Given the description of an element on the screen output the (x, y) to click on. 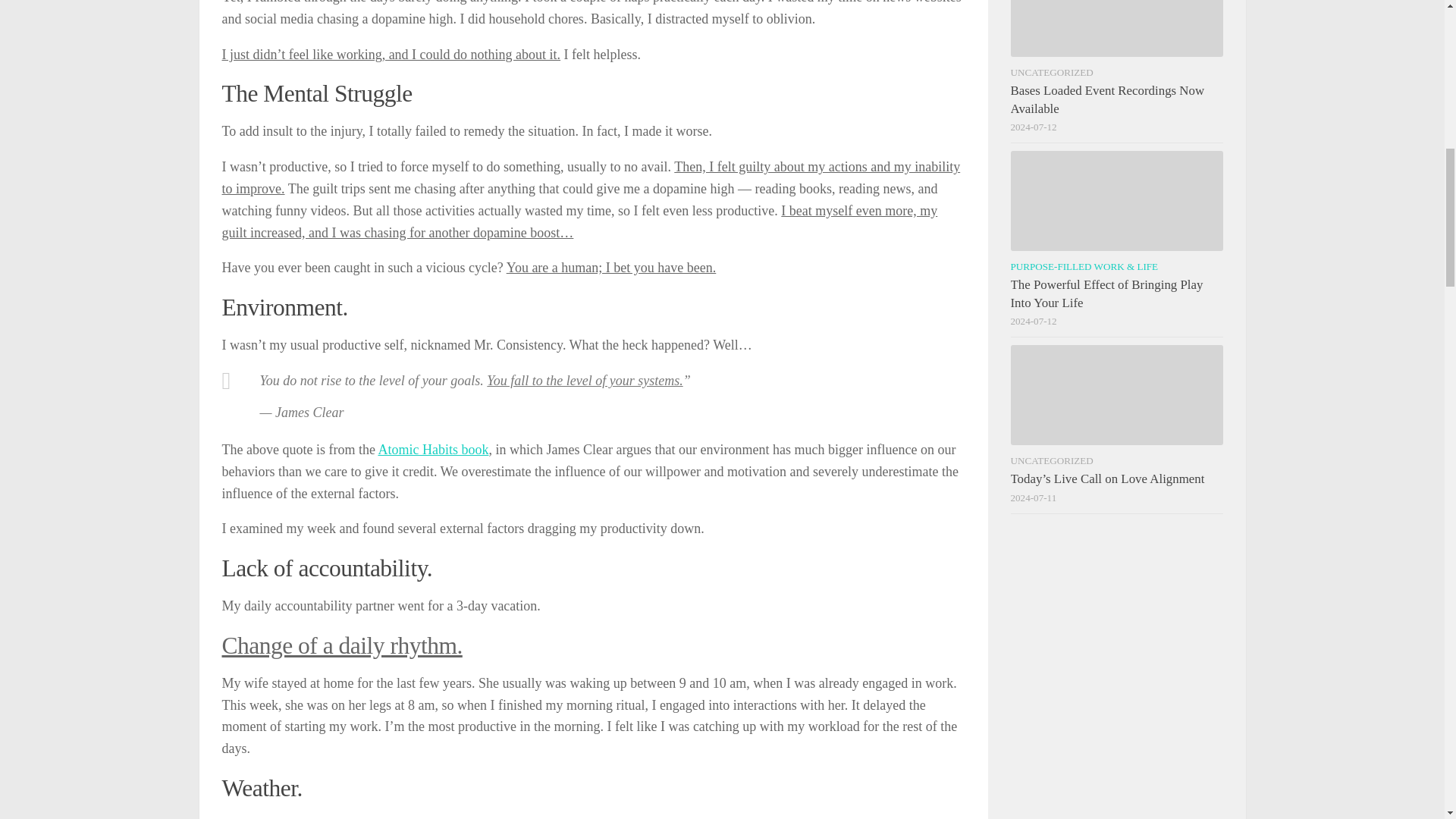
Atomic Habits book (432, 449)
